Given the description of an element on the screen output the (x, y) to click on. 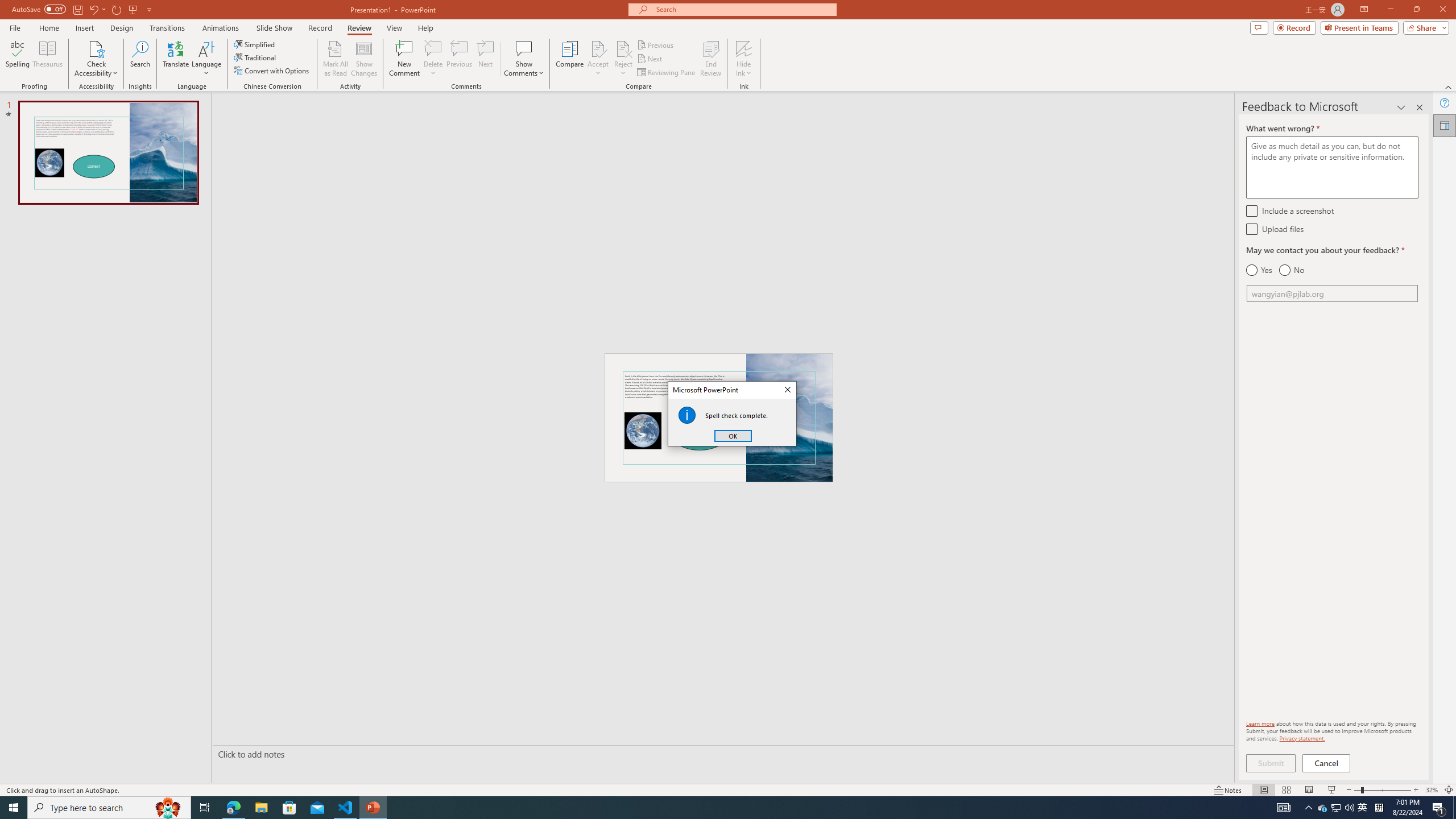
Action Center, 1 new notification (1439, 807)
What went wrong? * (1332, 167)
No (1291, 269)
Submit (1270, 763)
Previous (655, 44)
Thesaurus... (47, 58)
Mark All as Read (335, 58)
